Given the description of an element on the screen output the (x, y) to click on. 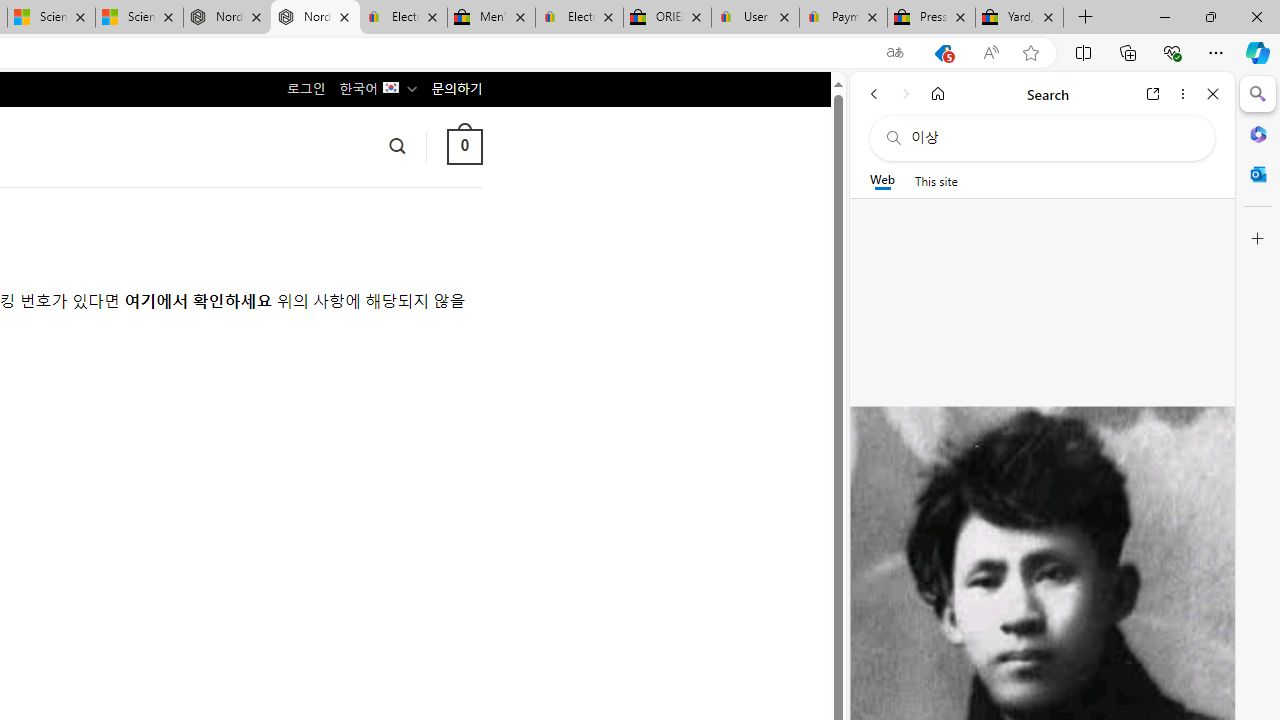
Nordace - Summer Adventures 2024 (227, 17)
Yard, Garden & Outdoor Living (1019, 17)
Show translate options (895, 53)
Forward (906, 93)
